Given the description of an element on the screen output the (x, y) to click on. 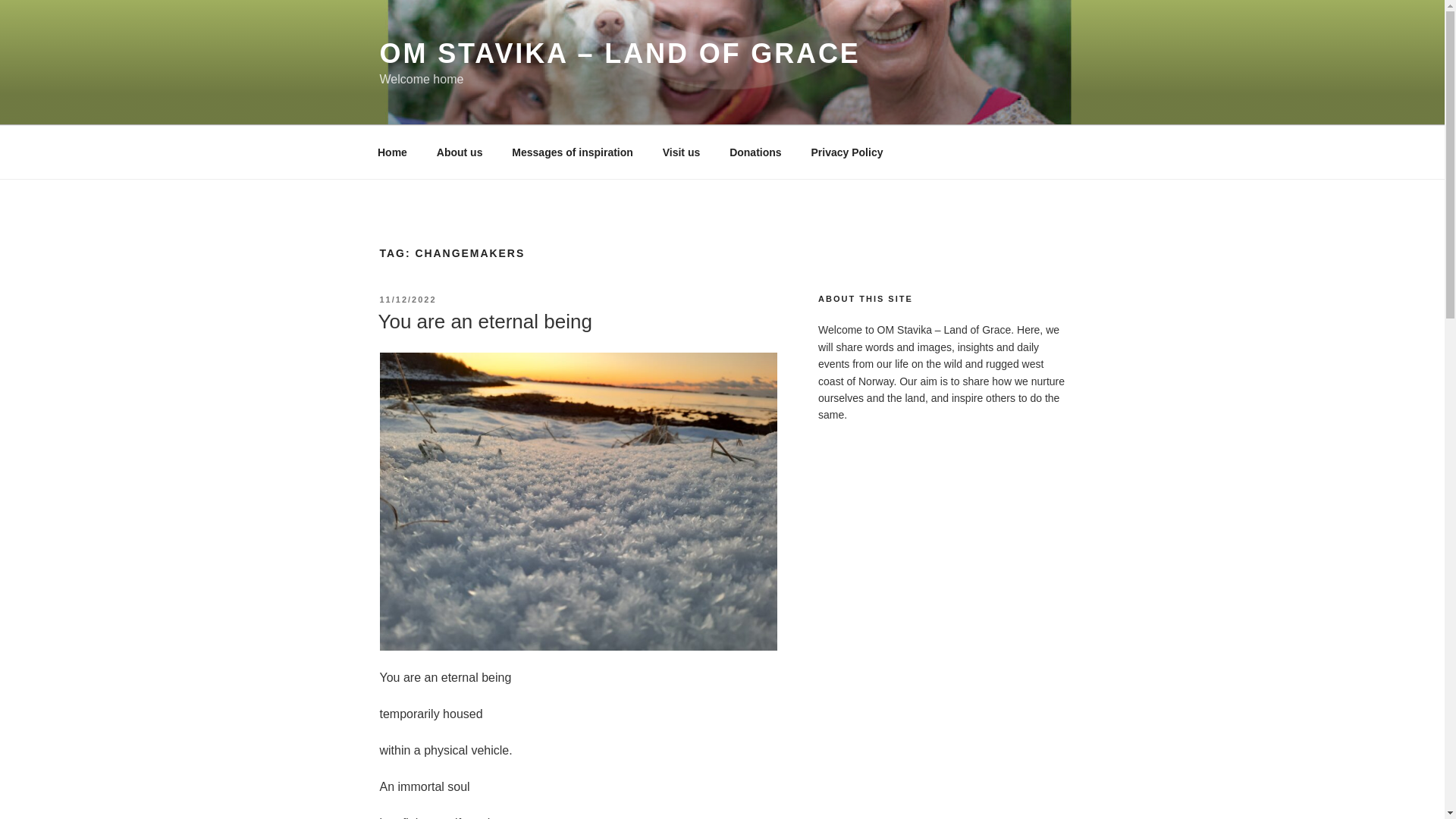
Visit us (681, 151)
About us (459, 151)
Privacy Policy (846, 151)
Messages of inspiration (572, 151)
Donations (755, 151)
You are an eternal being (484, 321)
Home (392, 151)
